Given the description of an element on the screen output the (x, y) to click on. 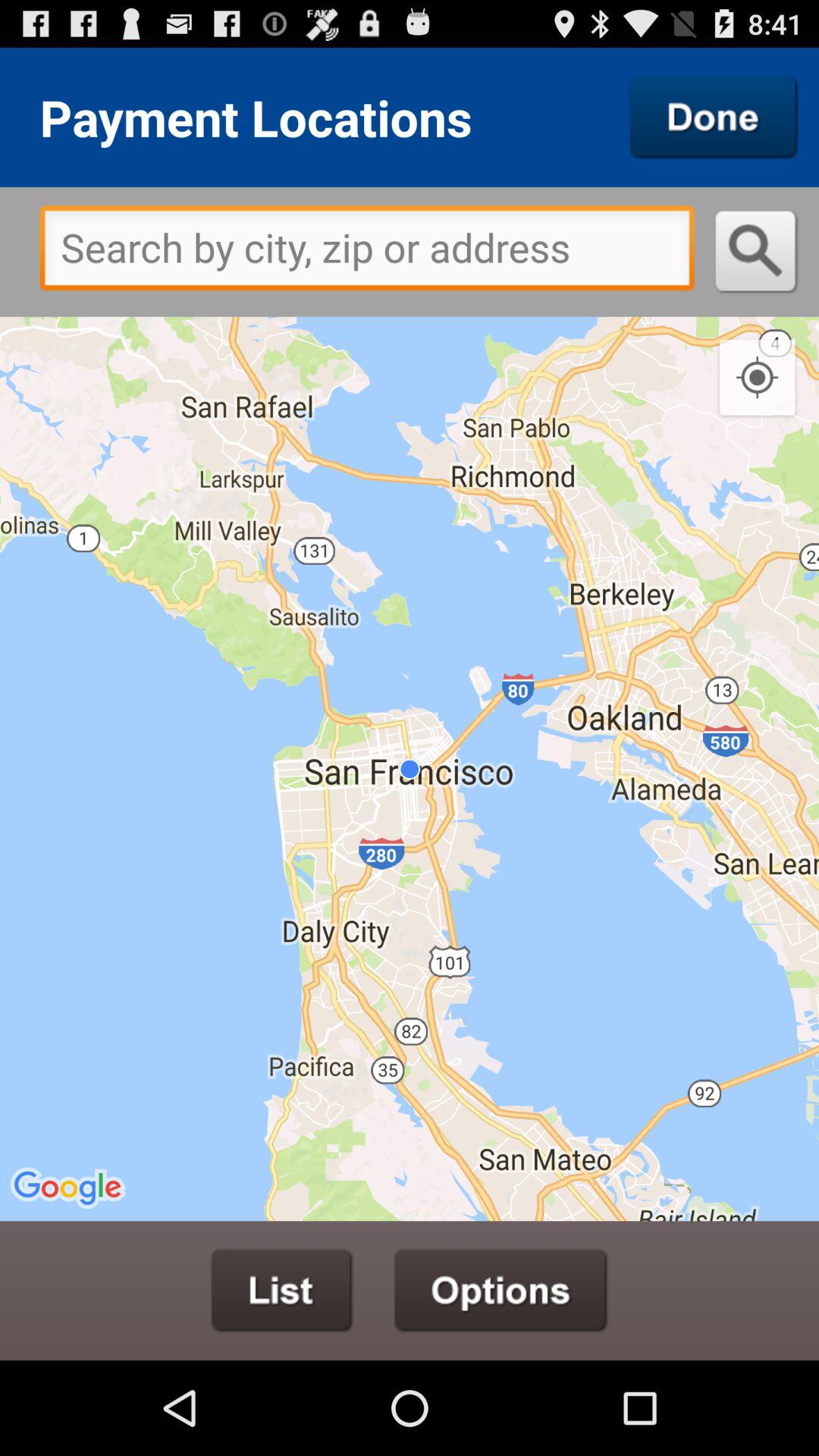
go to options (500, 1290)
